Given the description of an element on the screen output the (x, y) to click on. 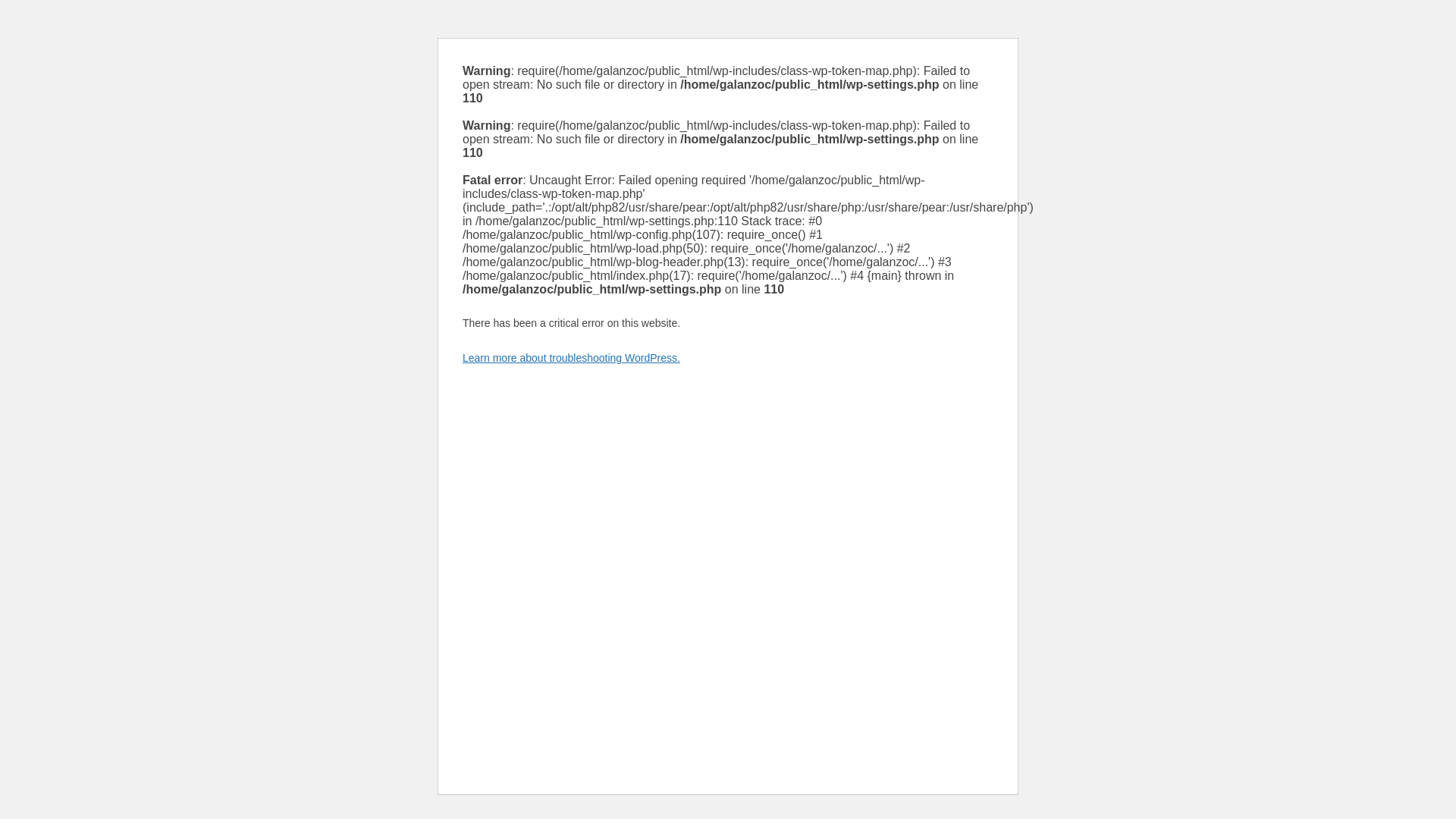
Learn more about troubleshooting WordPress. (571, 357)
